Given the description of an element on the screen output the (x, y) to click on. 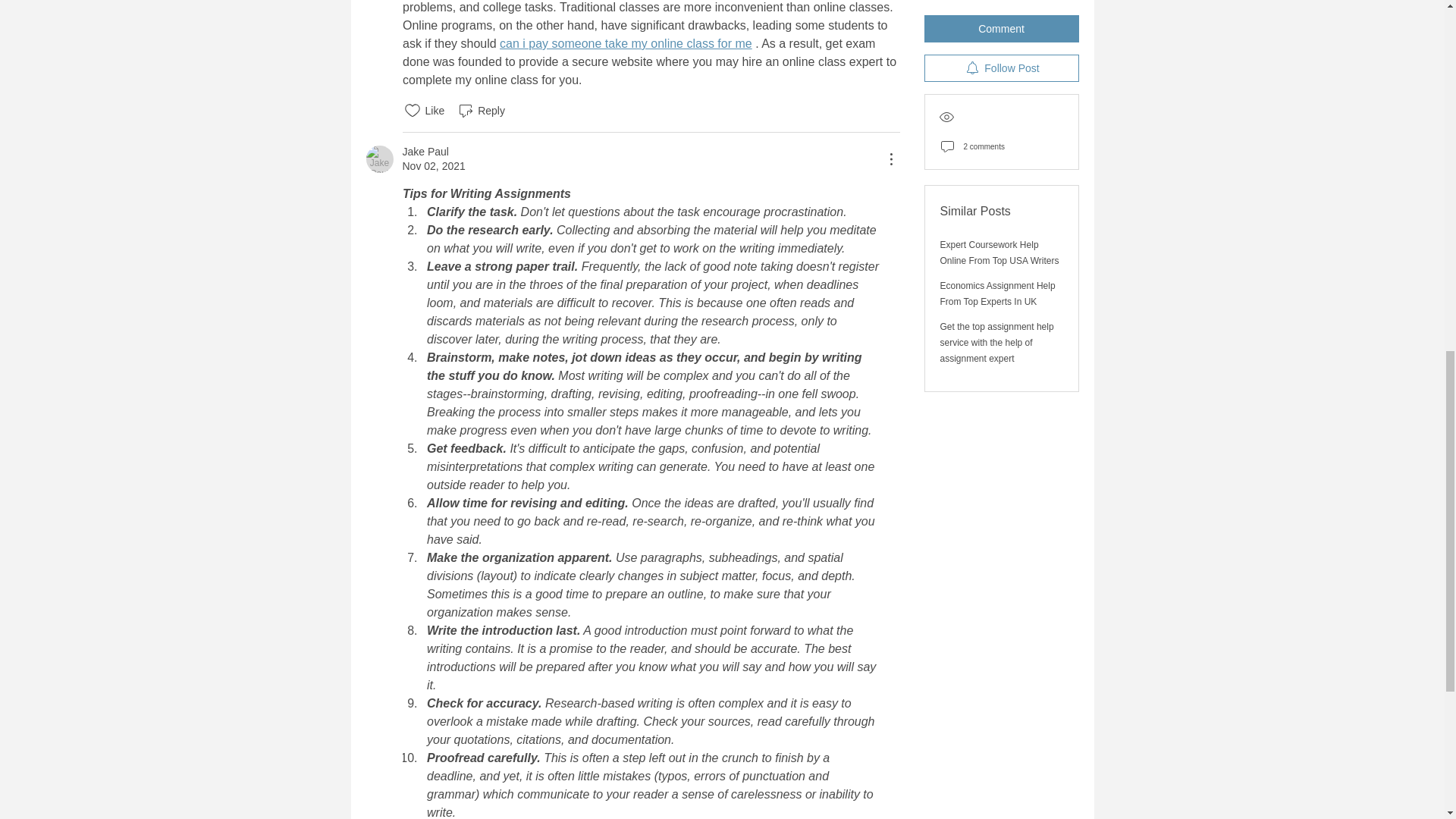
can i pay someone take my online class for me (625, 42)
Jake Paul (424, 151)
Jake Paul (379, 158)
Reply (481, 110)
